Given the description of an element on the screen output the (x, y) to click on. 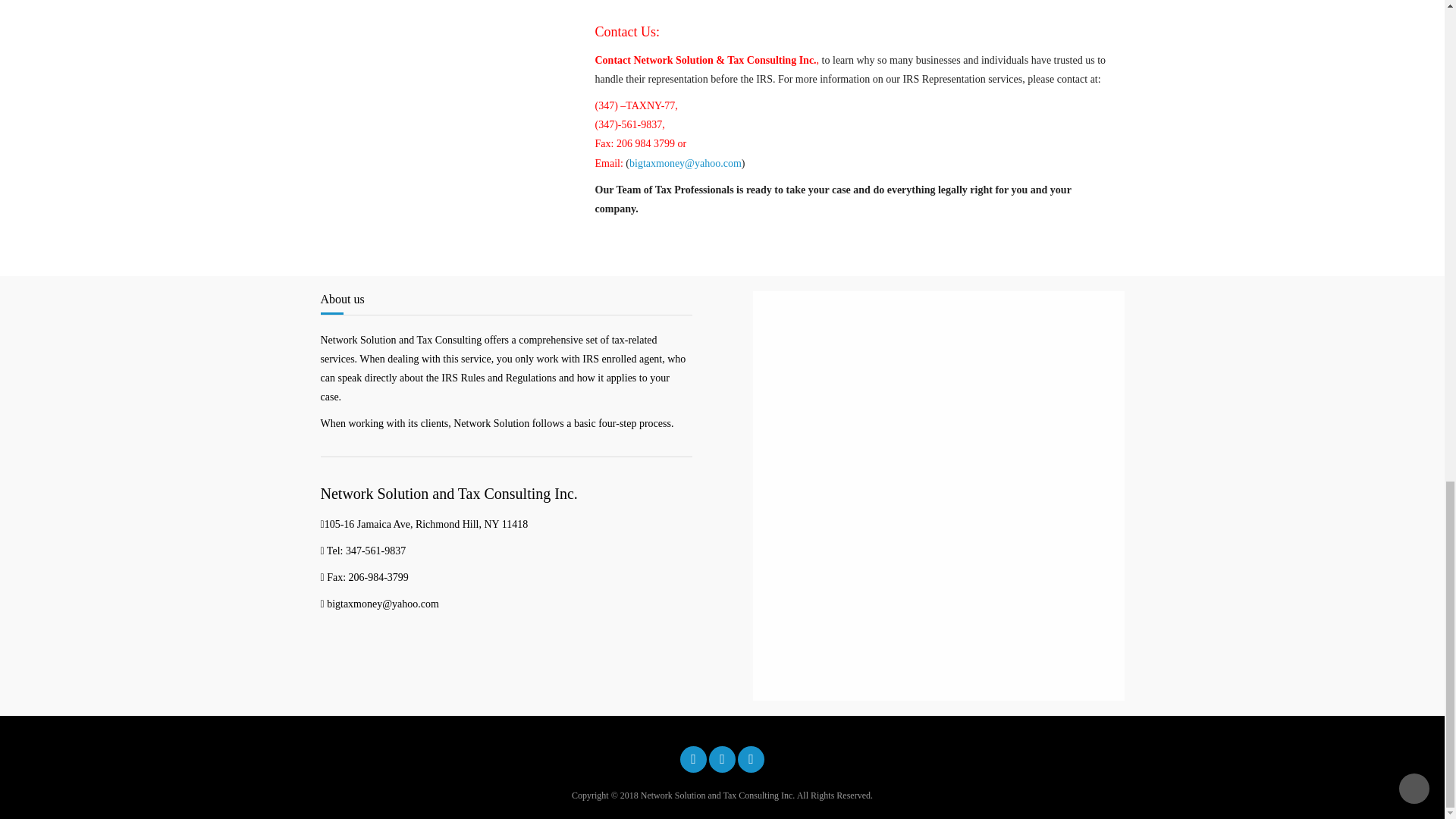
Network Solution and Tax Consulting (692, 759)
